Given the description of an element on the screen output the (x, y) to click on. 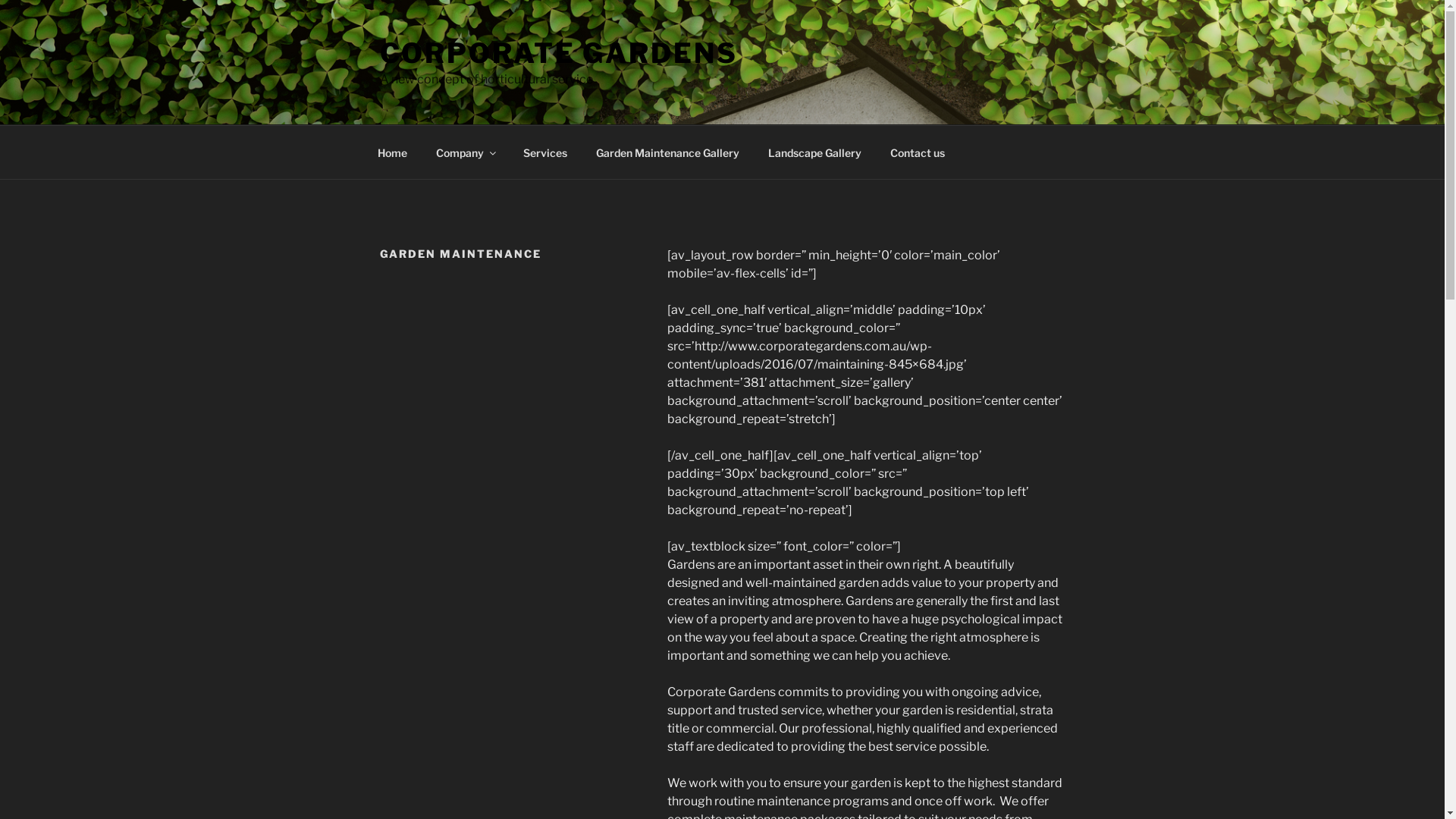
Skip to content Element type: text (0, 0)
Company Element type: text (465, 151)
Garden Maintenance Gallery Element type: text (667, 151)
Home Element type: text (392, 151)
Landscape Gallery Element type: text (815, 151)
Contact us Element type: text (916, 151)
Services Element type: text (544, 151)
CORPORATE GARDENS Element type: text (558, 52)
